Given the description of an element on the screen output the (x, y) to click on. 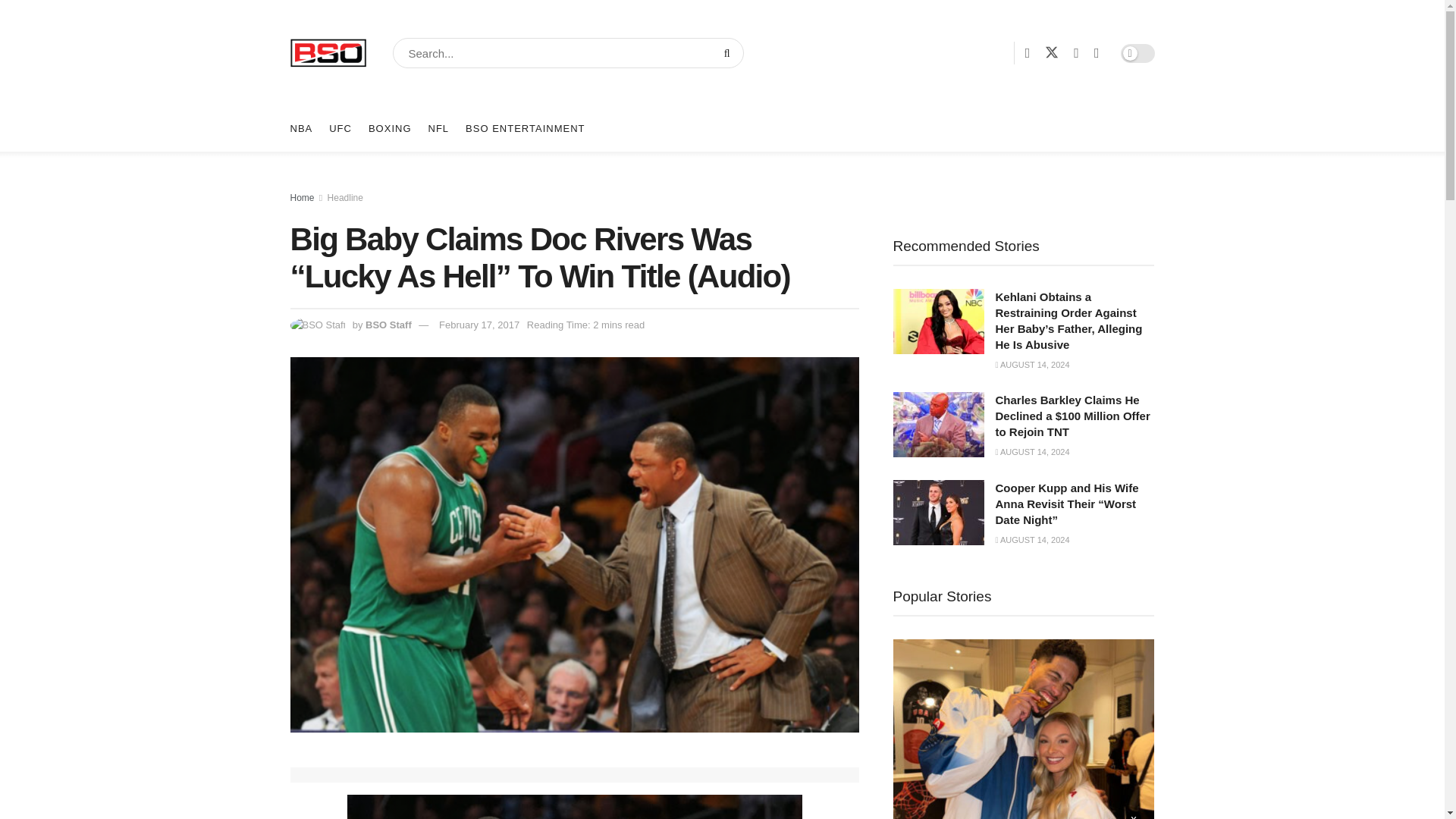
Headline (344, 197)
February 17, 2017 (479, 324)
BOXING (390, 128)
BSO ENTERTAINMENT (525, 128)
BSO Staff (388, 324)
Home (301, 197)
